Given the description of an element on the screen output the (x, y) to click on. 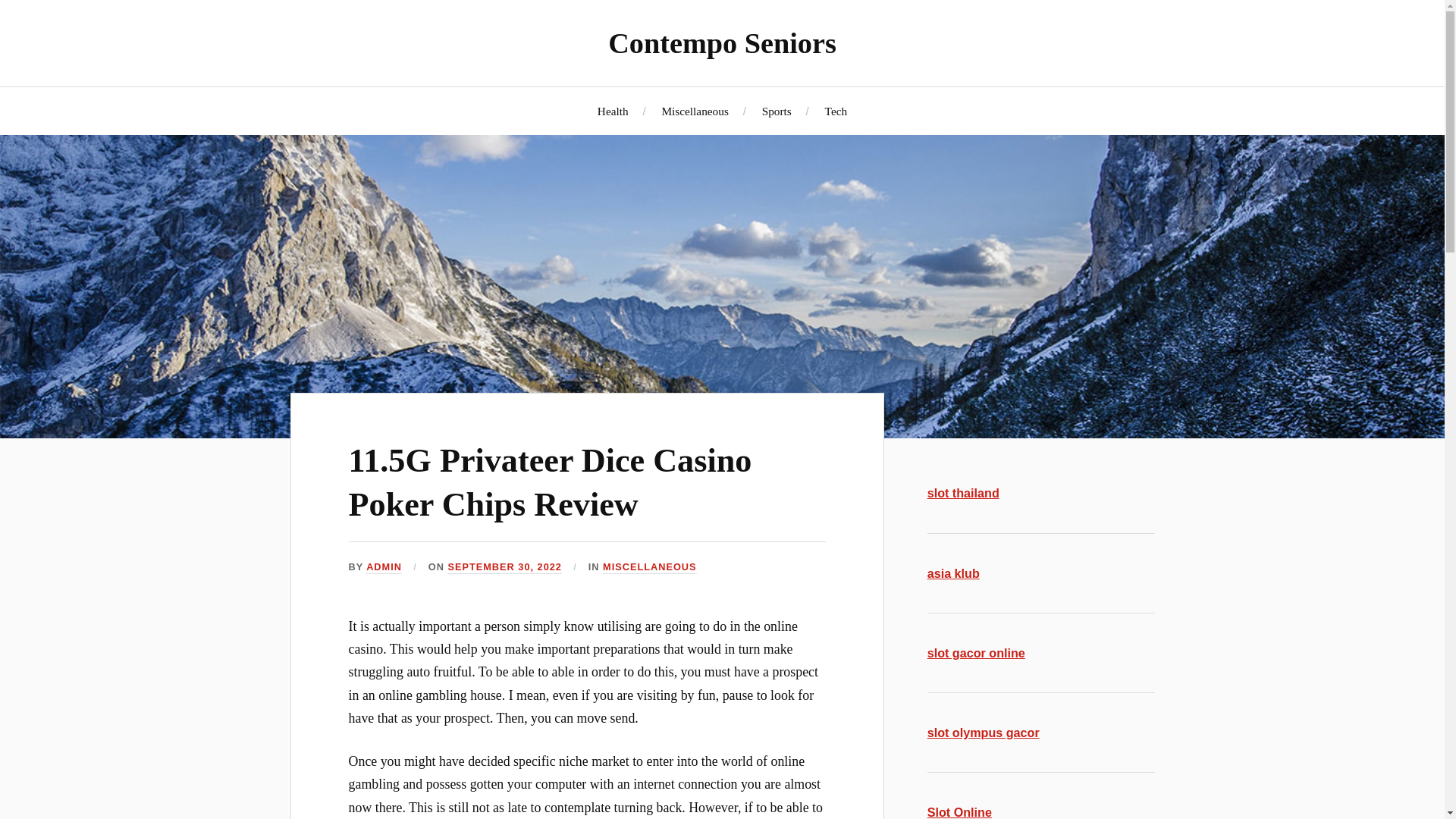
MISCELLANEOUS (649, 567)
Contempo Seniors (721, 42)
Slot Online (959, 812)
Miscellaneous (694, 110)
ADMIN (383, 567)
Posts by admin (383, 567)
SEPTEMBER 30, 2022 (504, 567)
asia klub (953, 572)
slot thailand (962, 492)
11.5G Privateer Dice Casino Poker Chips Review (550, 482)
